Given the description of an element on the screen output the (x, y) to click on. 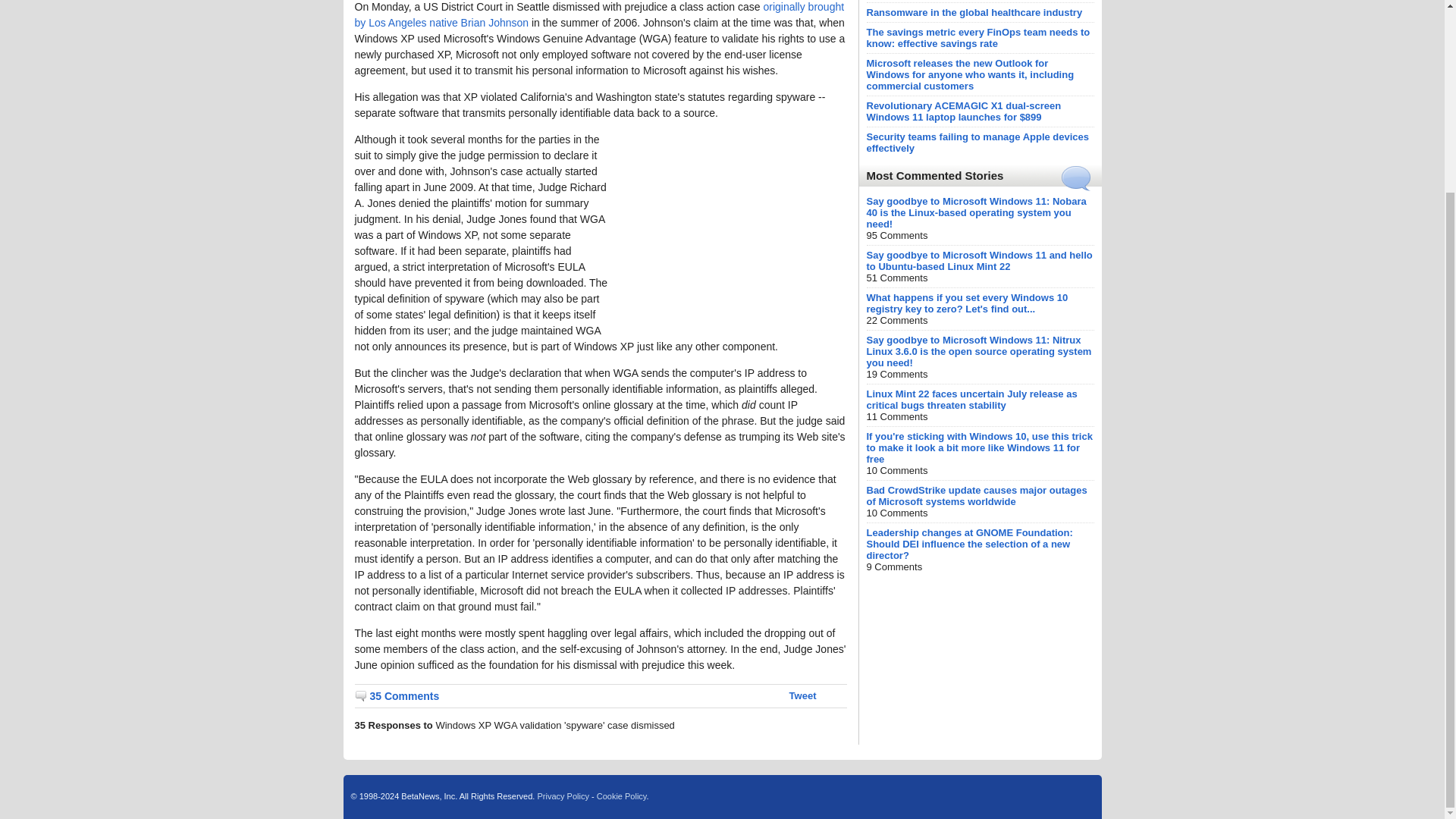
originally brought by Los Angeles native Brian Johnson (599, 14)
35 Comments (397, 695)
Ransomware in the global healthcare industry  (975, 12)
Tweet (802, 695)
Security teams failing to manage Apple devices effectively (977, 142)
